Given the description of an element on the screen output the (x, y) to click on. 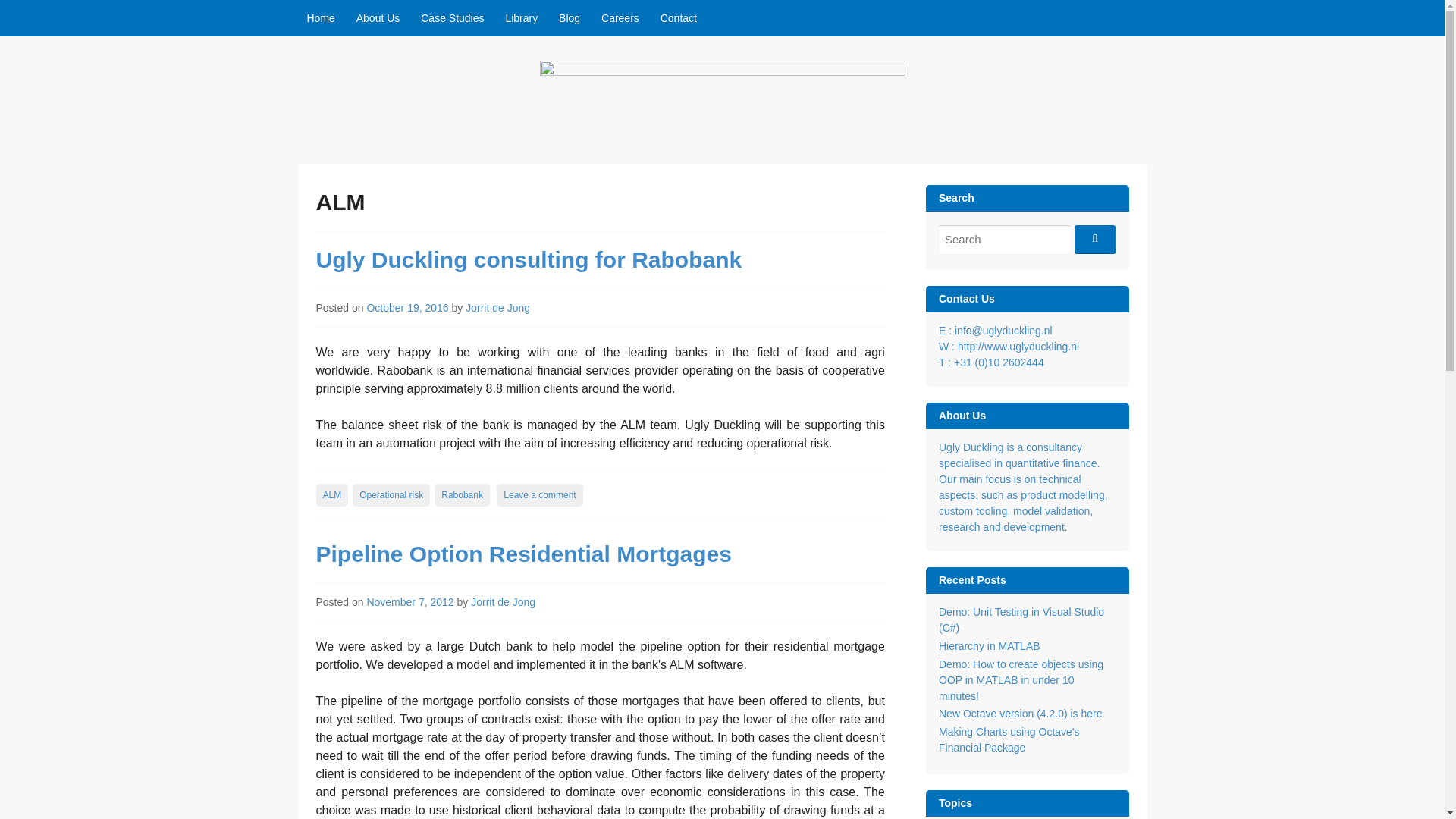
Leave a comment (539, 495)
Case Studies (452, 18)
Search for: (1004, 238)
Careers (619, 18)
Blog (569, 18)
Operational risk (390, 495)
Jorrit de Jong (497, 307)
Home (320, 18)
About Us (378, 18)
Ugly Duckling (388, 159)
